Given the description of an element on the screen output the (x, y) to click on. 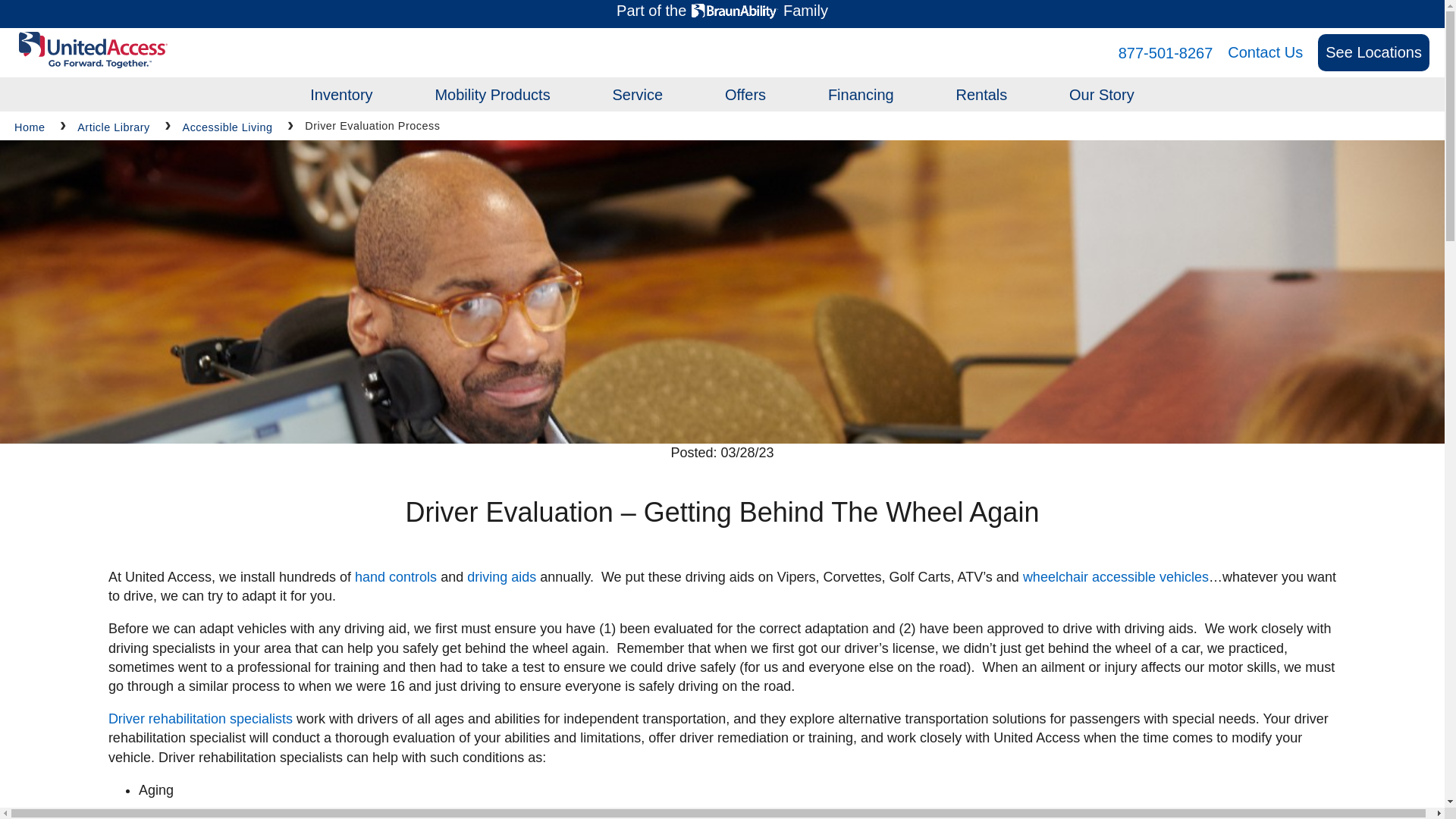
Service Center (676, 205)
Preventative Maintenance (714, 205)
Service (636, 94)
Wheelchair Accessible Trucks (549, 351)
New Inventory (373, 241)
Inventory (341, 94)
Referral Program (797, 278)
Wheelchair Securement (530, 351)
Special Financing on Wheelchair SUVs (871, 278)
Contact Us (1265, 52)
